Given the description of an element on the screen output the (x, y) to click on. 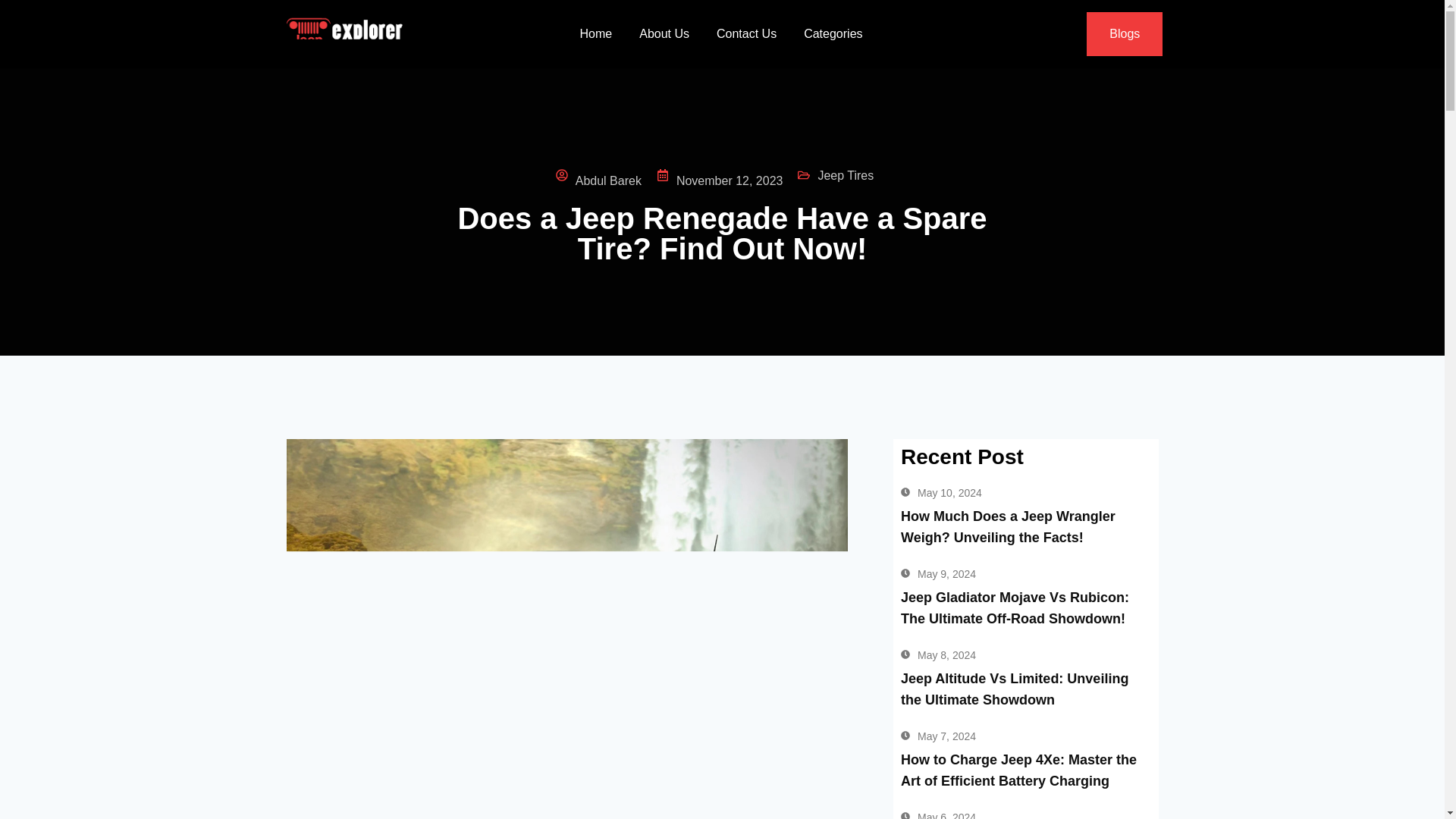
Categories (833, 33)
About Us (664, 33)
Contact Us (746, 33)
Blogs (1123, 34)
